Given the description of an element on the screen output the (x, y) to click on. 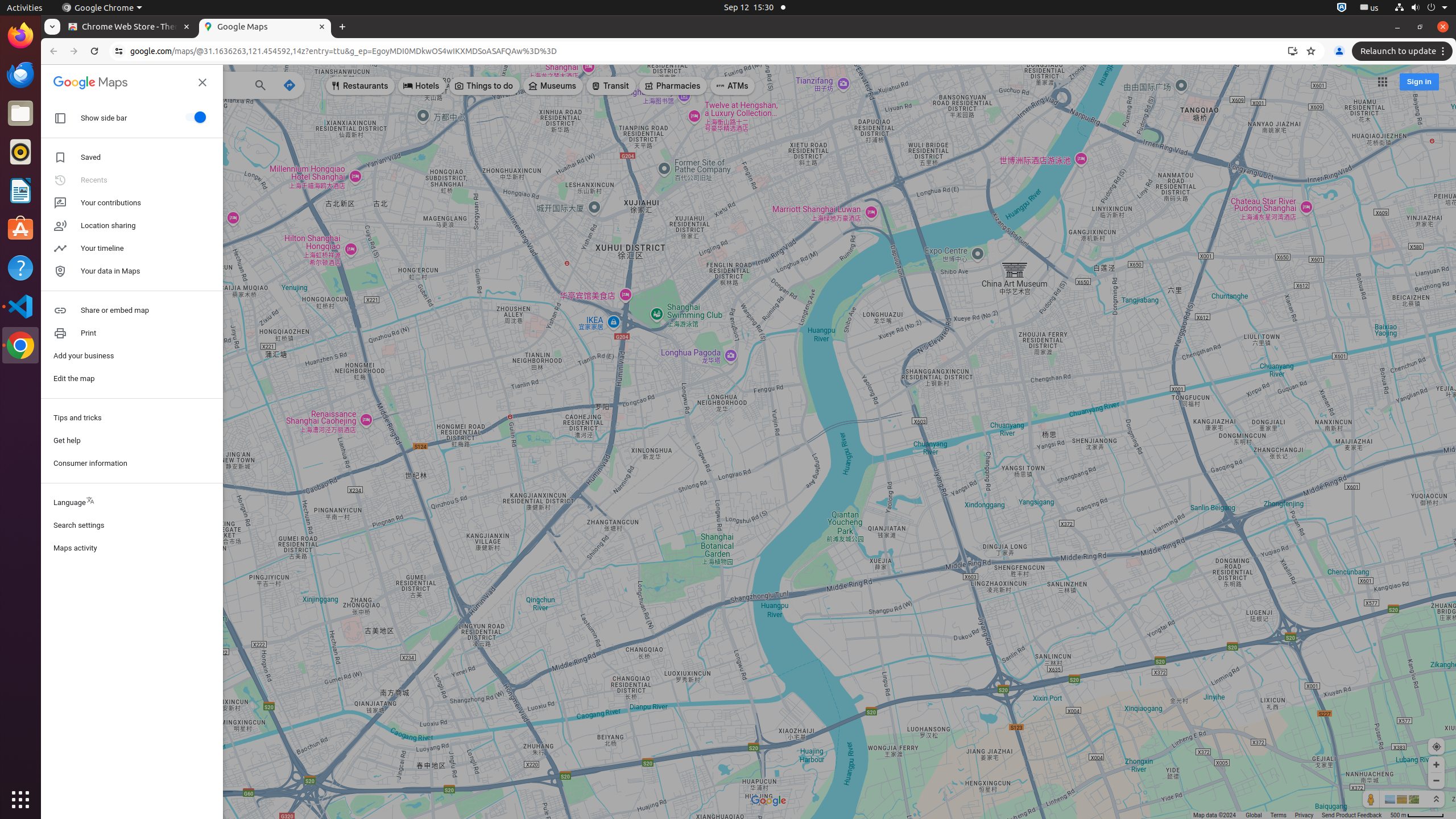
ATMs Element type: push-button (732, 85)
Send Product Feedback Element type: push-button (1351, 815)
Terms Element type: push-button (1278, 815)
